Given the description of an element on the screen output the (x, y) to click on. 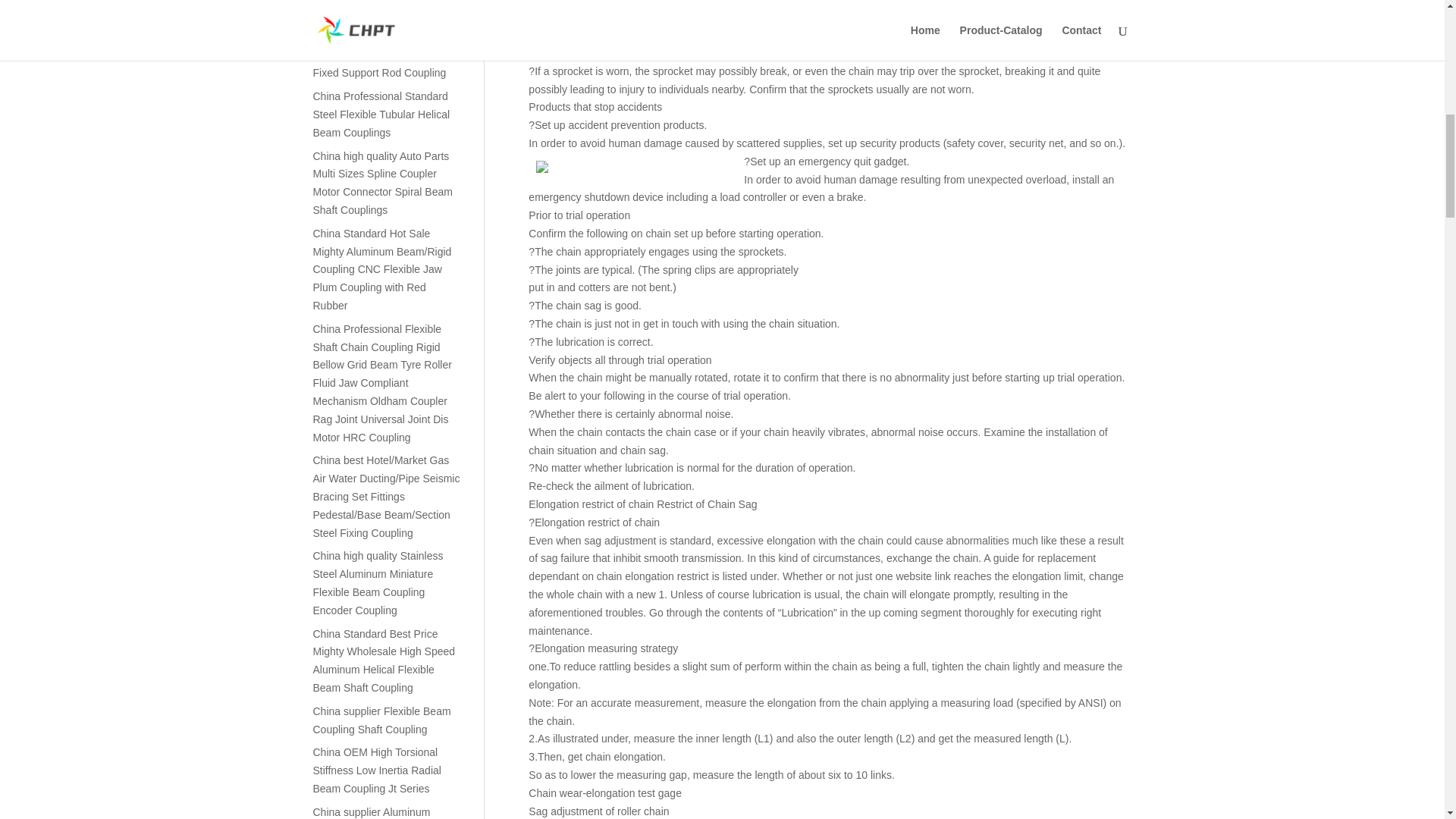
China supplier Flexible Beam Coupling Shaft Coupling (381, 720)
China supplier Aluminum Encoder Coupling Beam Coupling (371, 812)
